Given the description of an element on the screen output the (x, y) to click on. 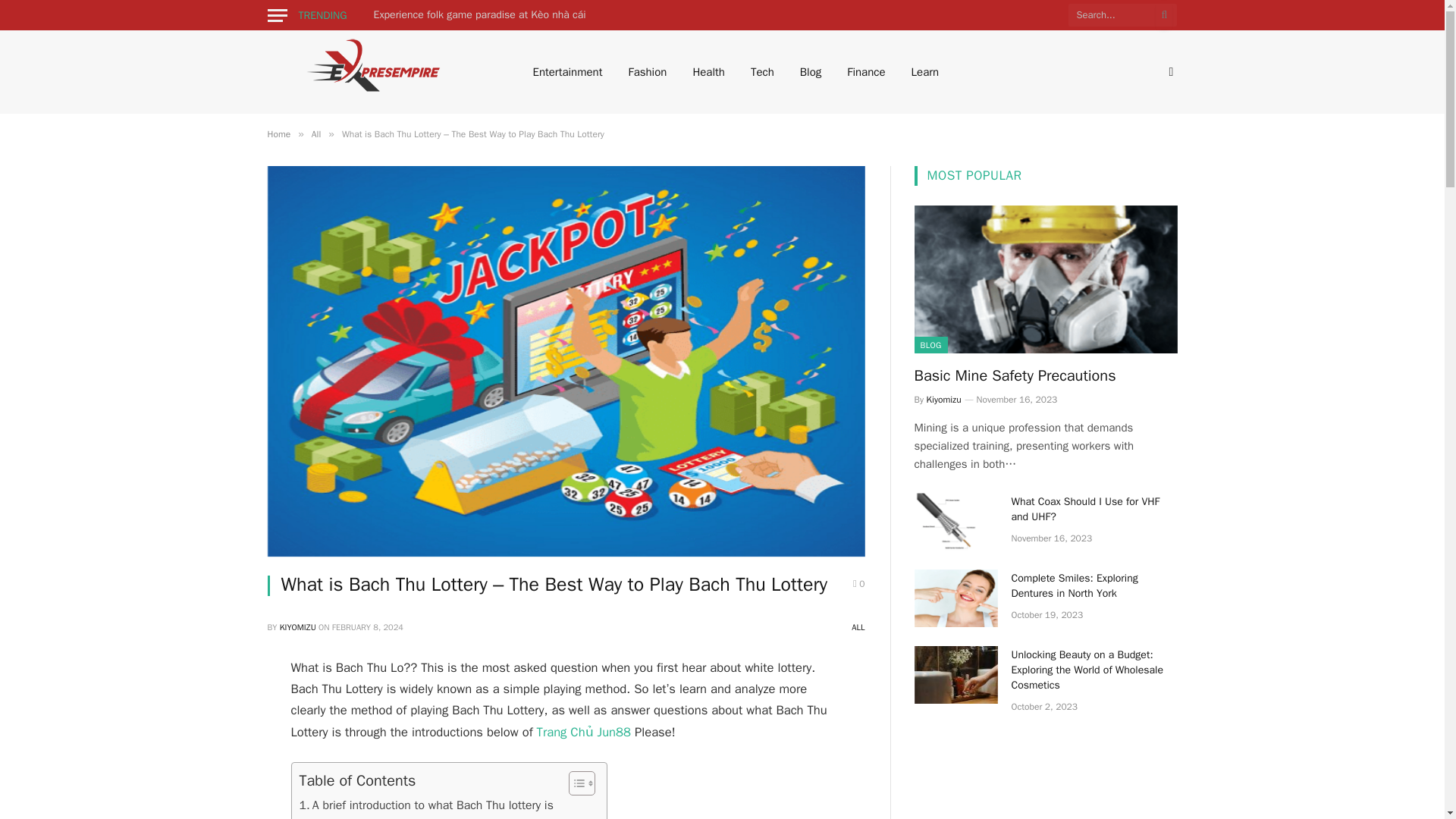
KIYOMIZU (297, 626)
Switch to Dark Design - easier on eyes. (1168, 71)
Expresempire.com (379, 71)
2024-02-08 (367, 626)
ALL (857, 626)
Home (277, 133)
Posts by Kiyomizu (297, 626)
Entertainment (567, 71)
